Given the description of an element on the screen output the (x, y) to click on. 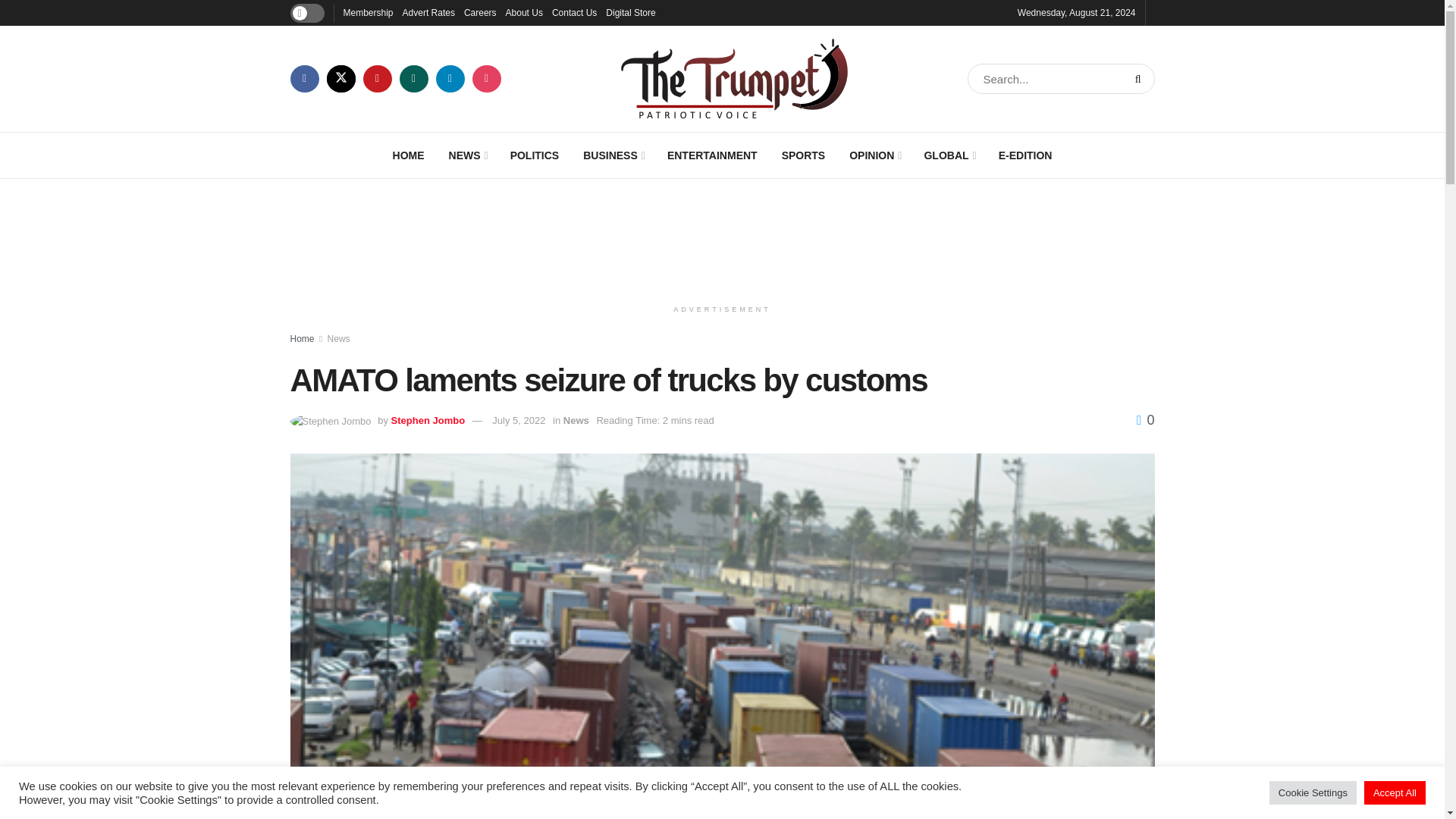
Careers (480, 12)
NEWS (466, 155)
HOME (408, 155)
POLITICS (534, 155)
About Us (524, 12)
OPINION (874, 155)
Contact Us (573, 12)
Membership (367, 12)
Advertisement (722, 235)
ENTERTAINMENT (712, 155)
